Given the description of an element on the screen output the (x, y) to click on. 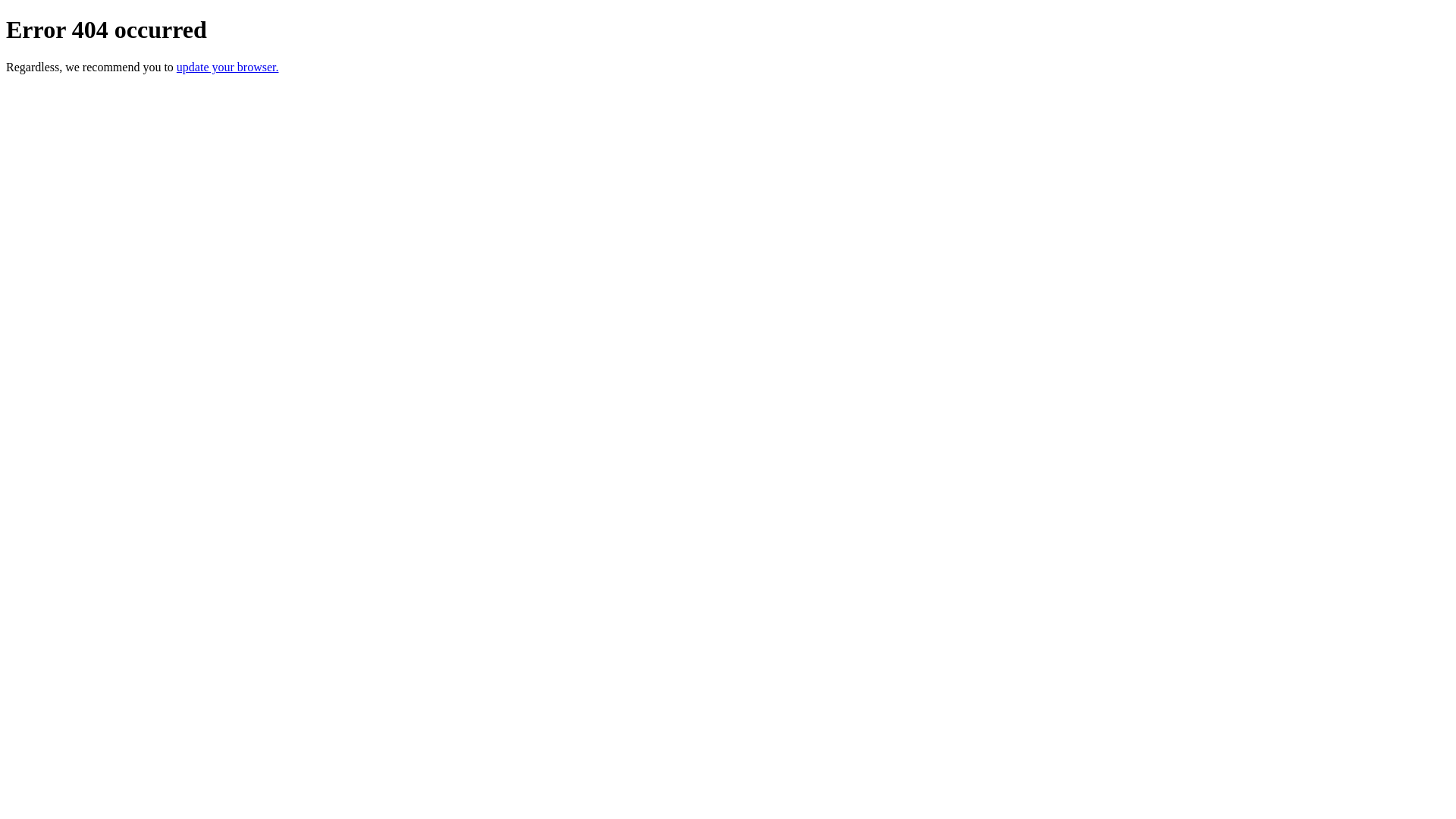
update your browser. Element type: text (227, 66)
